Given the description of an element on the screen output the (x, y) to click on. 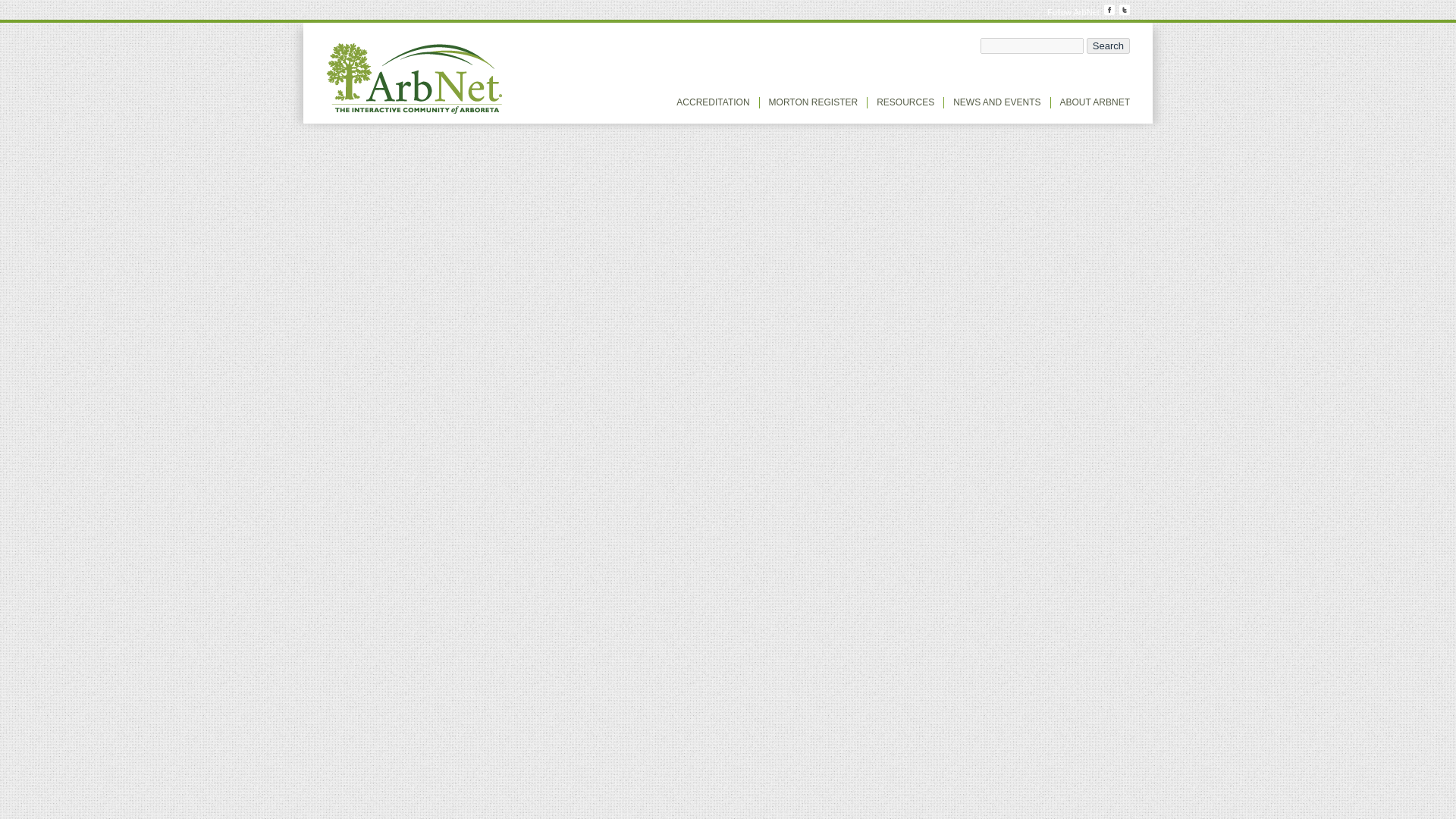
NEWS AND EVENTS (997, 102)
Accreditation (713, 102)
Recent news, events and social media (997, 102)
Learn about the history, mission and services (1094, 102)
ABOUT ARBNET (1094, 102)
Search (1107, 45)
Landing page to register (813, 102)
ACCREDITATION (713, 102)
MORTON REGISTER (813, 102)
Resources (905, 102)
Enter the terms you wish to search for. (1031, 45)
Search (1107, 45)
RESOURCES (905, 102)
